Given the description of an element on the screen output the (x, y) to click on. 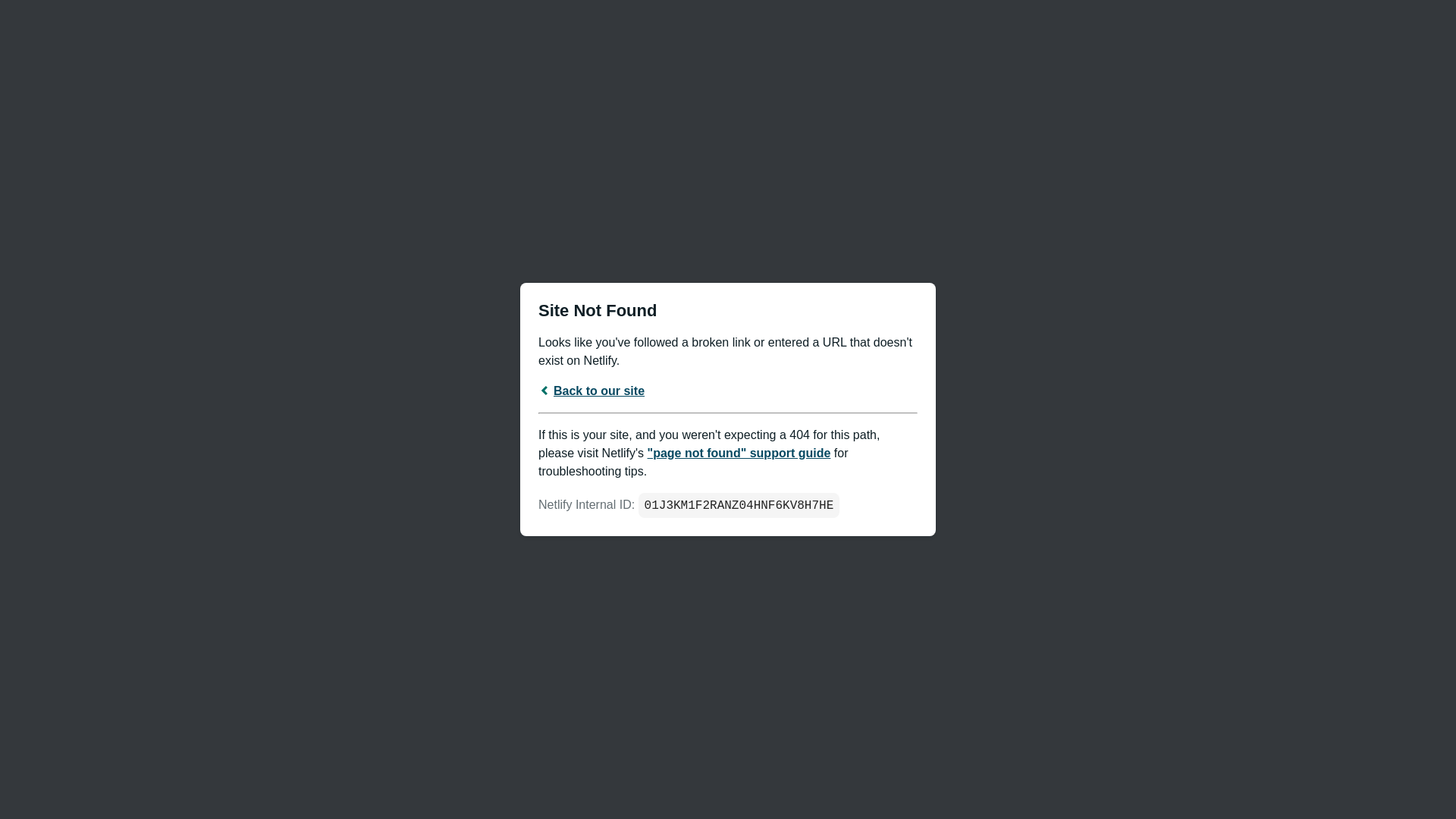
Back to our site (591, 390)
"page not found" support guide (739, 452)
